Given the description of an element on the screen output the (x, y) to click on. 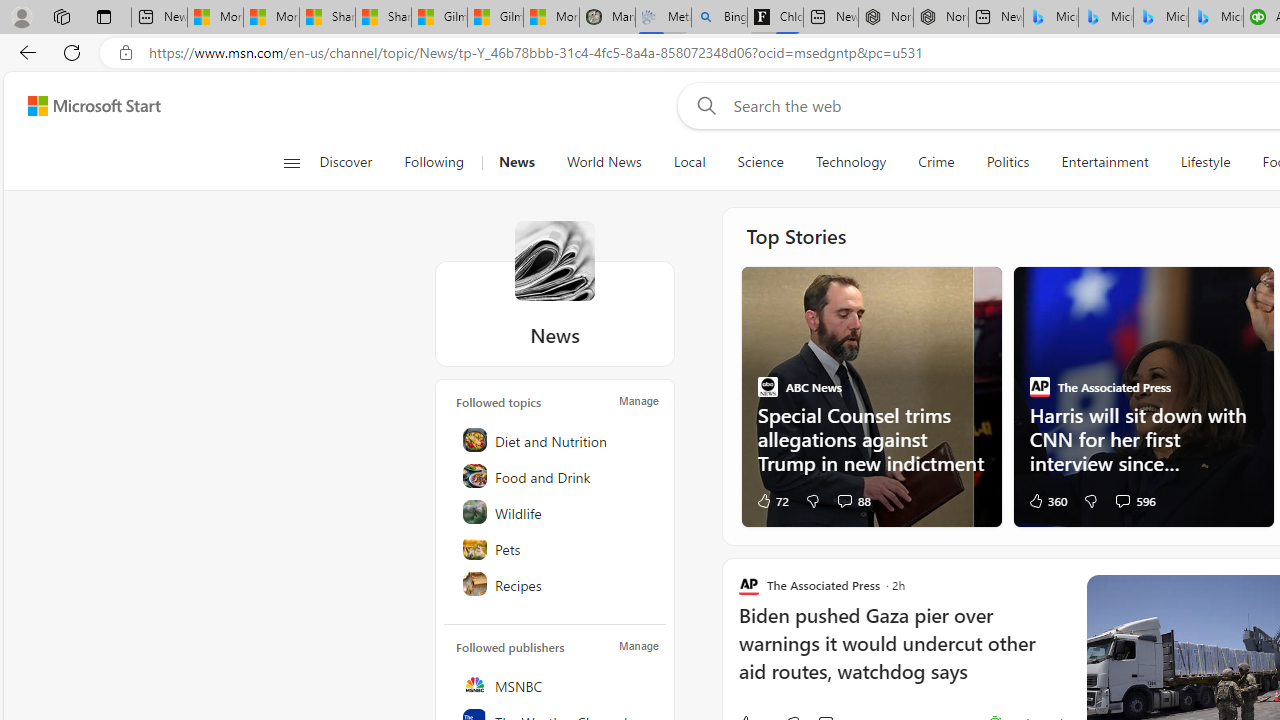
View comments 596 Comment (1134, 500)
Manage (639, 646)
View comments 88 Comment (853, 500)
Crime (936, 162)
Skip to footer (82, 105)
Open navigation menu (291, 162)
Chloe Sorvino (774, 17)
Technology (851, 162)
Bing Real Estate - Home sales and rental listings (719, 17)
Microsoft Bing Travel - Stays in Bangkok, Bangkok, Thailand (1105, 17)
